Given the description of an element on the screen output the (x, y) to click on. 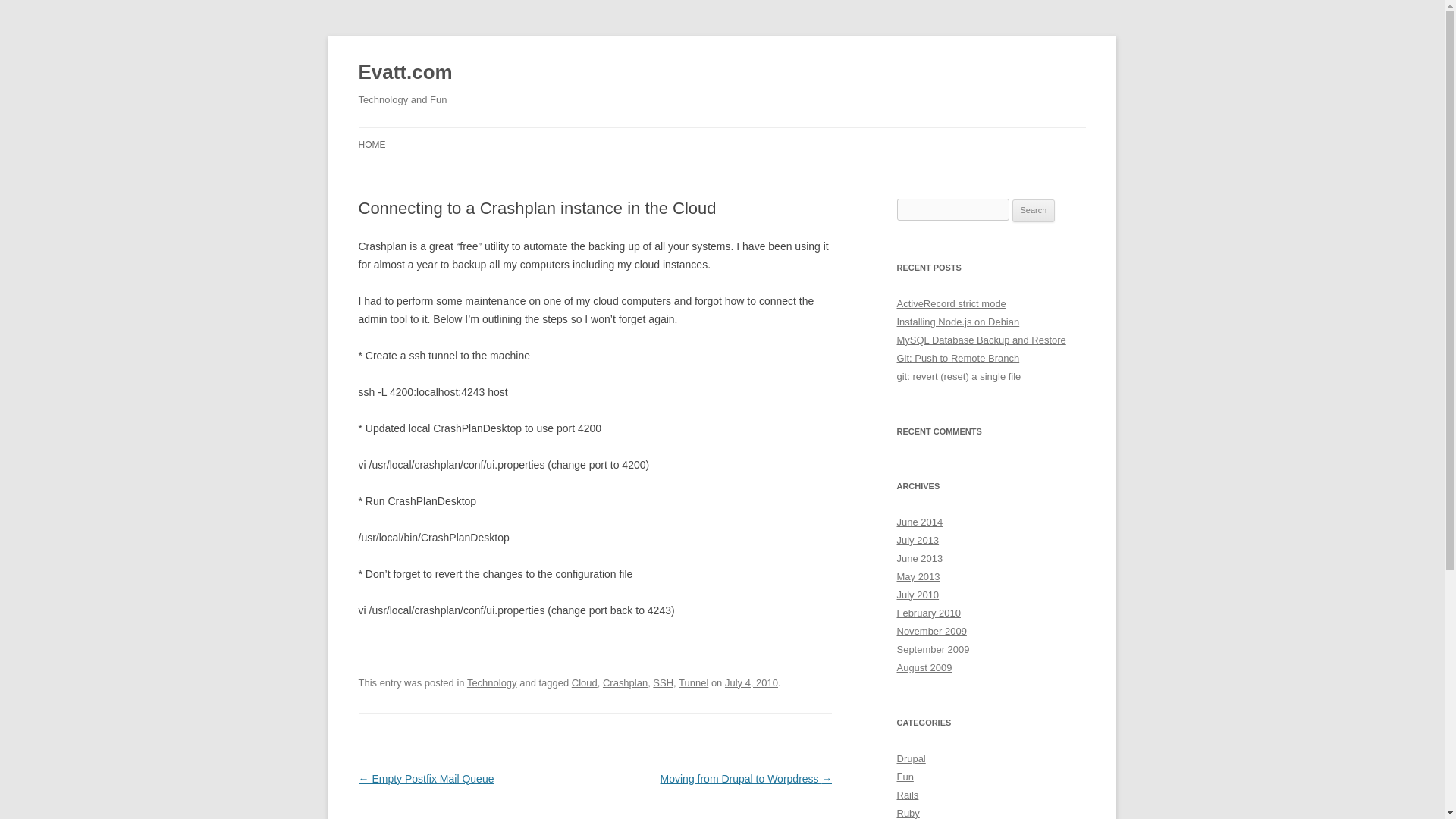
July 2013 (917, 540)
July 4, 2010 (751, 682)
Rails (907, 794)
May 2013 (917, 576)
ActiveRecord strict mode (951, 303)
Drupal (910, 758)
Git: Push to Remote Branch (957, 357)
Crashplan (624, 682)
